Given the description of an element on the screen output the (x, y) to click on. 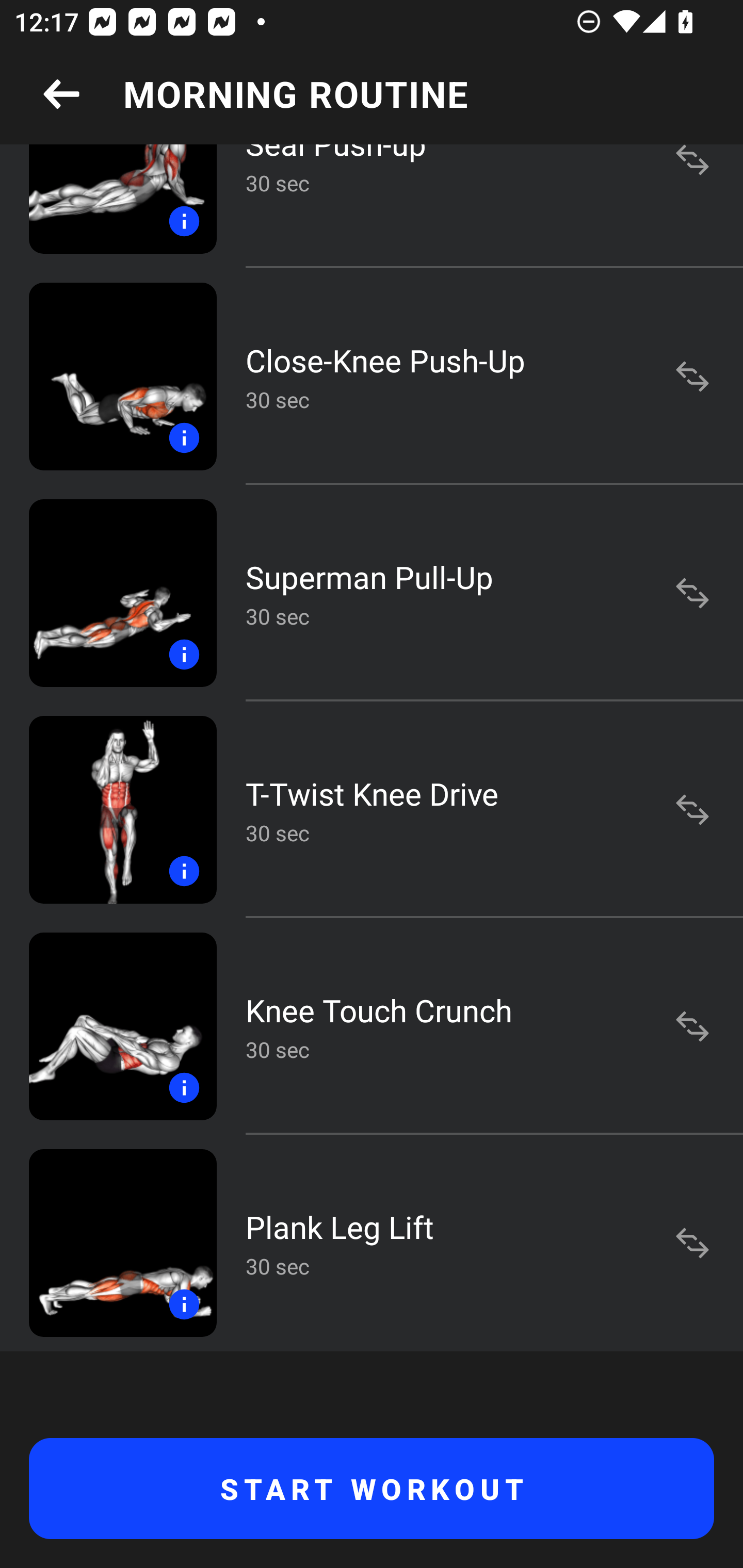
Seal Push-up 30 sec (371, 206)
Close-Knee Push-Up 30 sec (371, 376)
Superman Pull-Up 30 sec (371, 592)
T-Twist Knee Drive 30 sec (371, 809)
Knee Touch Crunch 30 sec (371, 1026)
Plank Leg Lift 30 sec (371, 1243)
START WORKOUT (371, 1488)
